Given the description of an element on the screen output the (x, y) to click on. 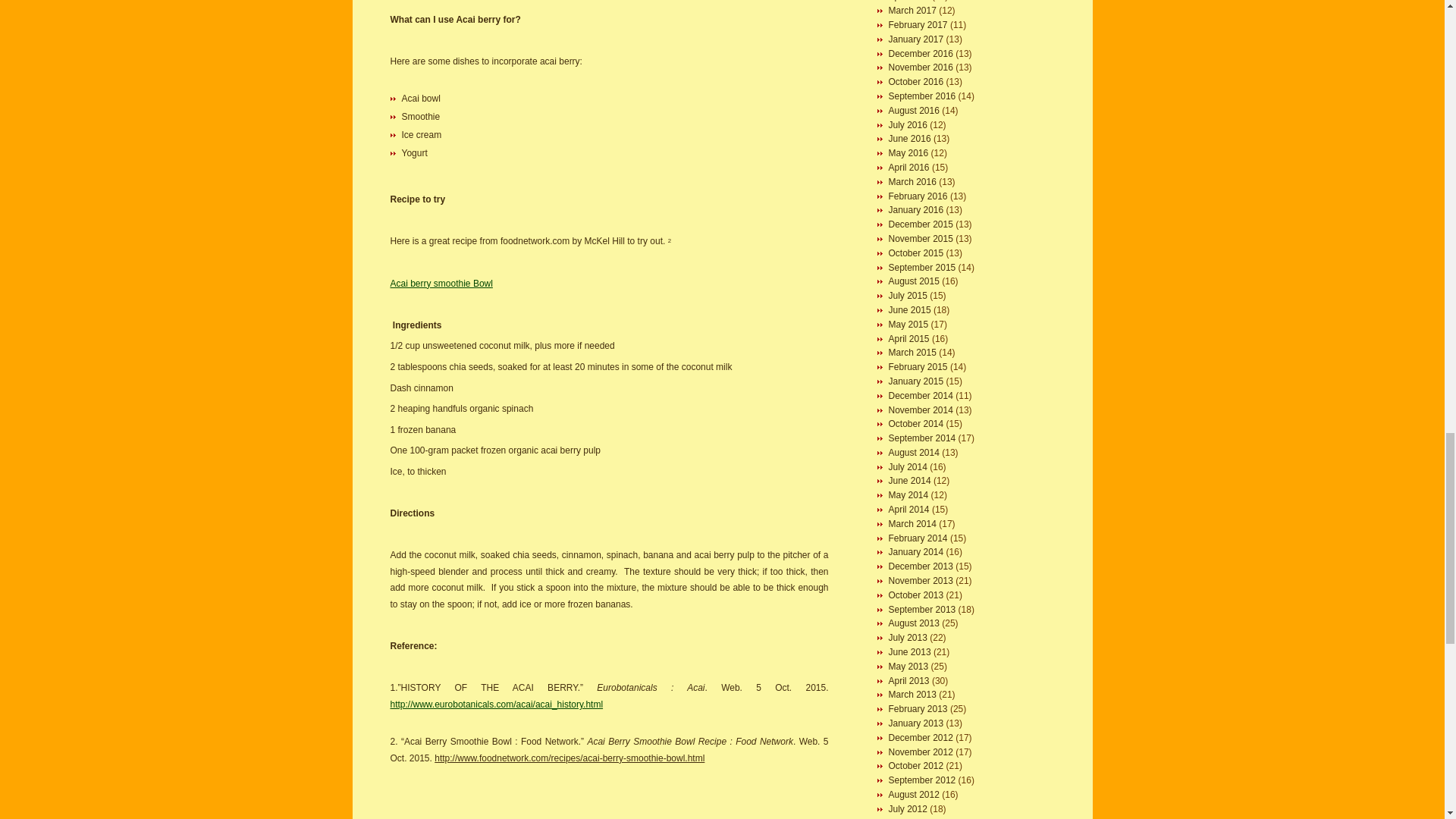
Acai berry smoothie Bowl (441, 283)
